Given the description of an element on the screen output the (x, y) to click on. 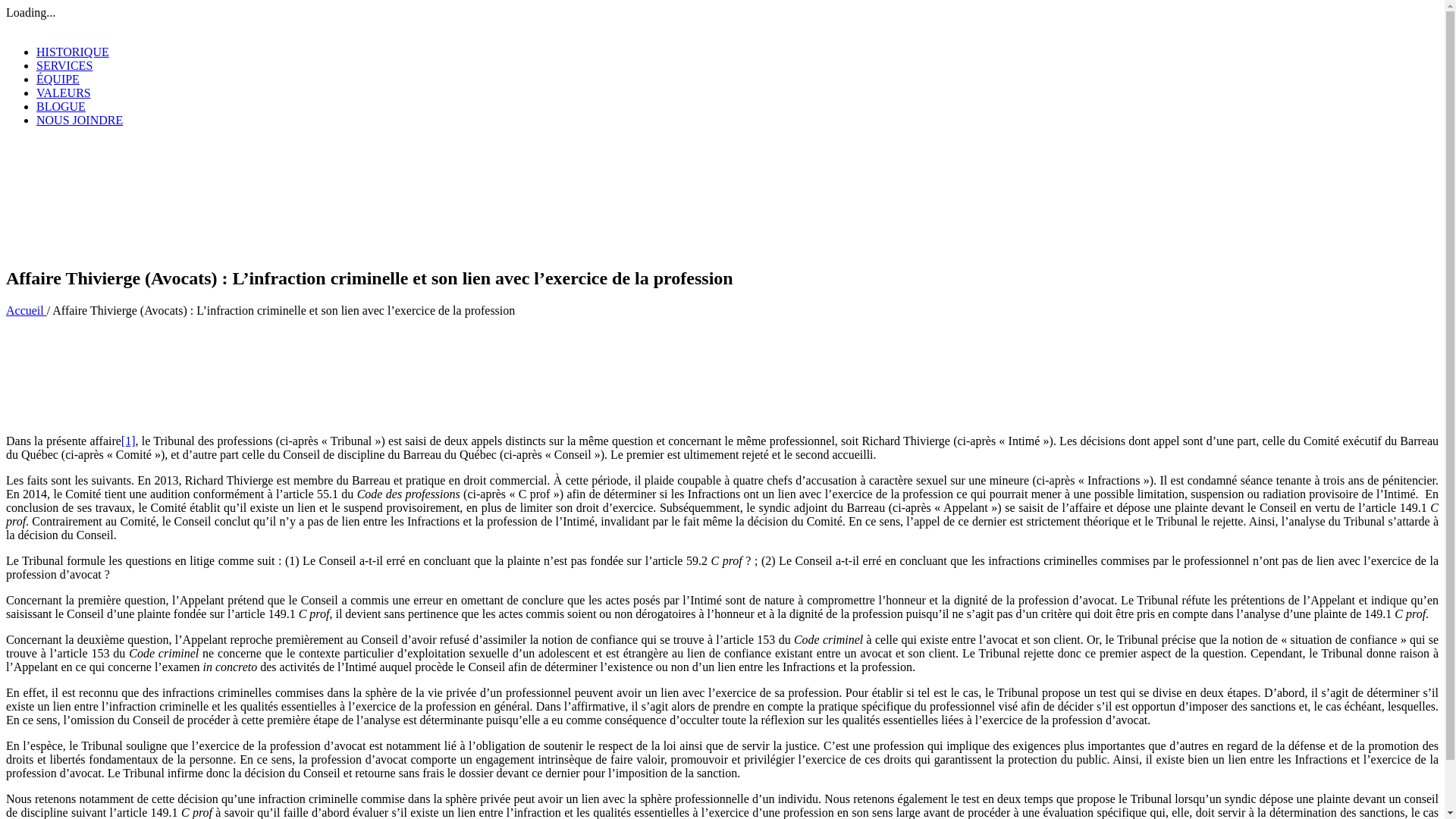
HISTORIQUE Element type: text (72, 51)
[1] Element type: text (128, 440)
VALEURS Element type: text (63, 92)
SERVICES Element type: text (64, 65)
NOUS JOINDRE Element type: text (79, 119)
Accueil Element type: text (26, 310)
BLOGUE Element type: text (60, 106)
